Given the description of an element on the screen output the (x, y) to click on. 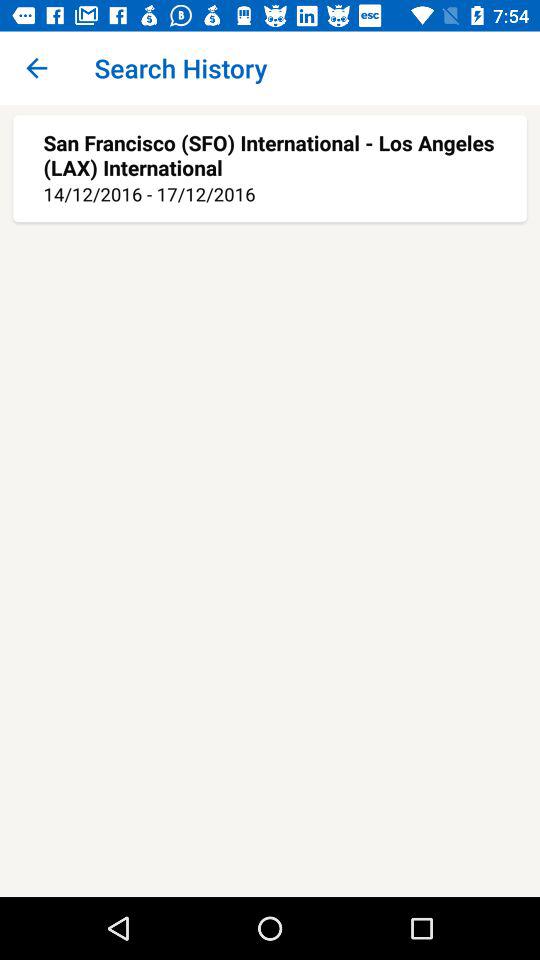
turn off the san francisco sfo (269, 154)
